Given the description of an element on the screen output the (x, y) to click on. 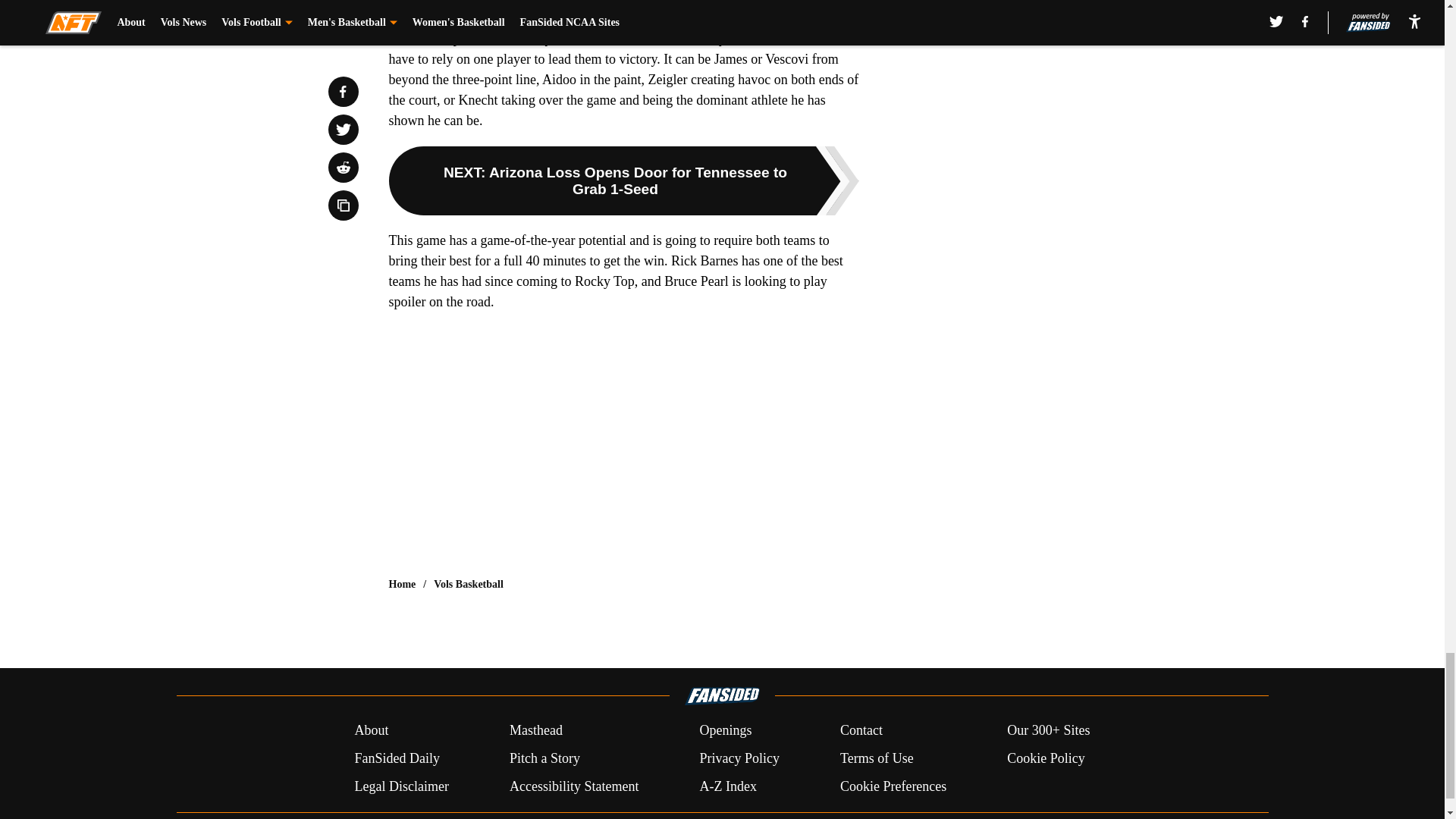
Masthead (535, 730)
NEXT: Arizona Loss Opens Door for Tennessee to Grab 1-Seed (623, 180)
About (370, 730)
Home (401, 584)
Vols Basketball (468, 584)
